Given the description of an element on the screen output the (x, y) to click on. 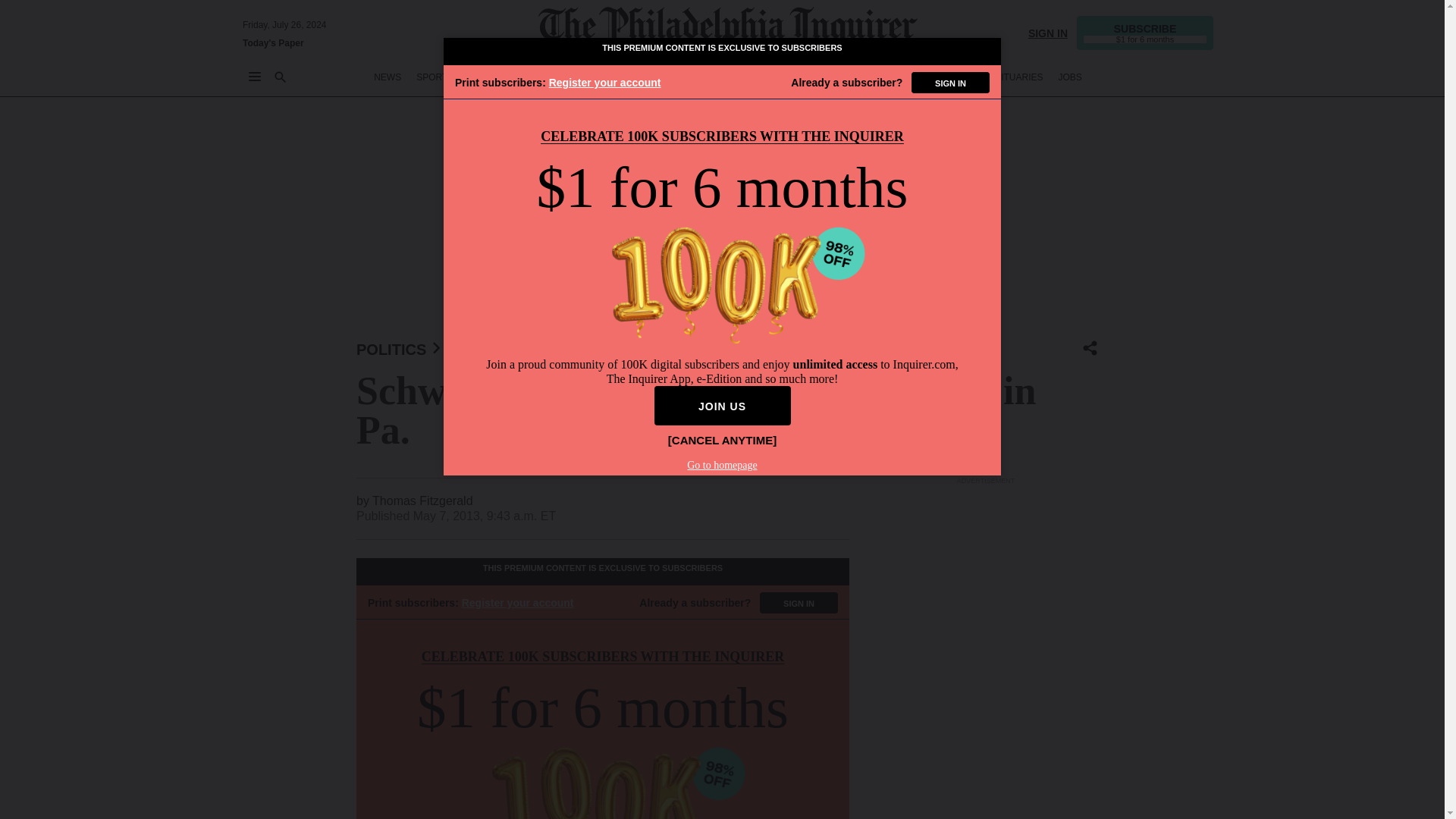
OPINION (604, 77)
BUSINESS (545, 77)
JOBS (1069, 77)
POLITICS (391, 348)
REAL ESTATE (942, 77)
FOOD (834, 77)
Share Icon (1090, 348)
HEALTH (878, 77)
POLITICS (659, 77)
BETTING (488, 77)
SPORTS (434, 77)
ENTERTAINMENT (732, 77)
LIFE (795, 77)
Share Icon (1090, 349)
